Given the description of an element on the screen output the (x, y) to click on. 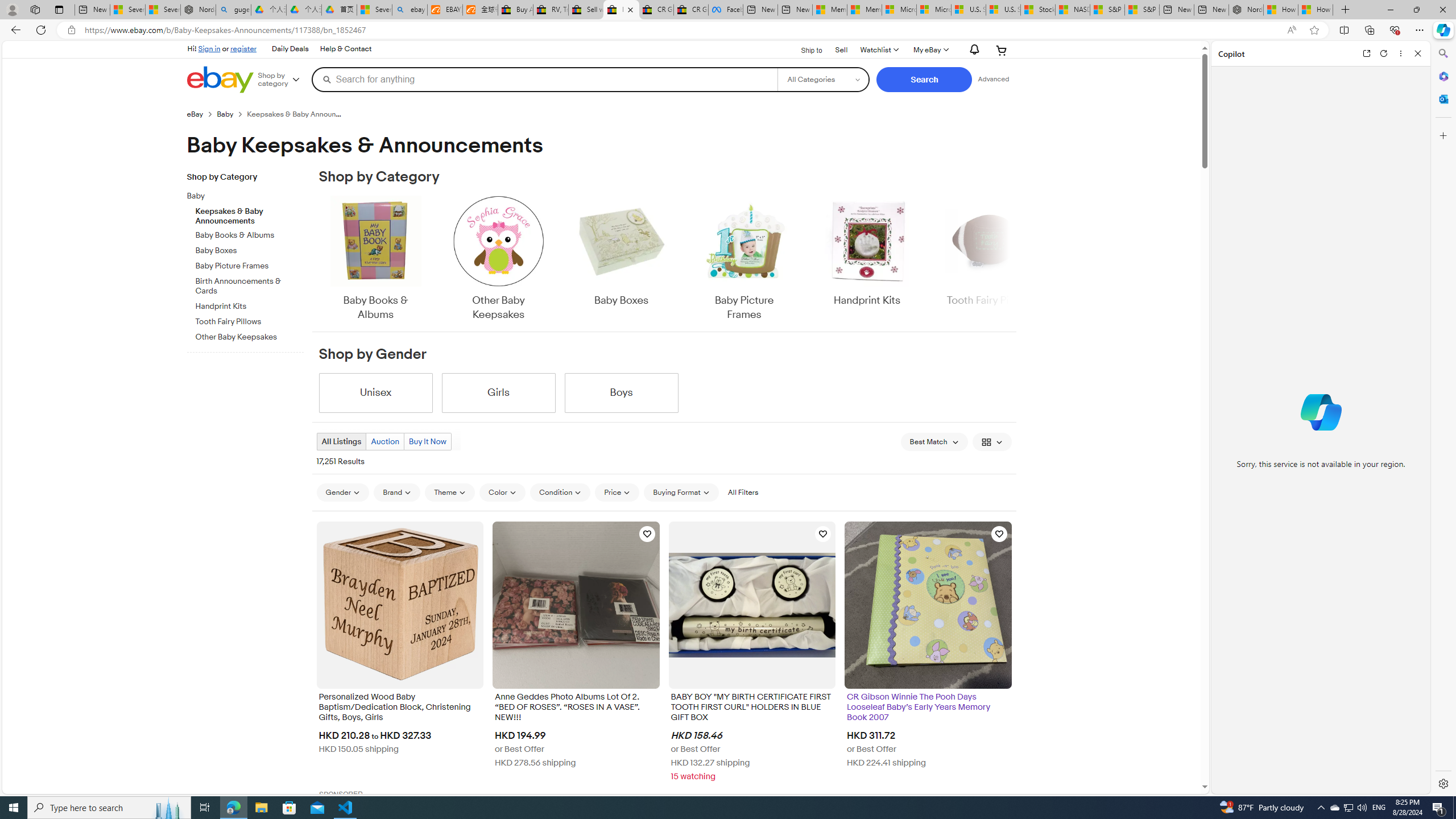
All Listings (340, 441)
Auction (384, 441)
Shop by category (282, 79)
Buy It Now (427, 441)
Outlook (1442, 98)
Your shopping cart (1001, 49)
Go to next slide (1009, 258)
Advanced Search (993, 78)
register (243, 48)
